Given the description of an element on the screen output the (x, y) to click on. 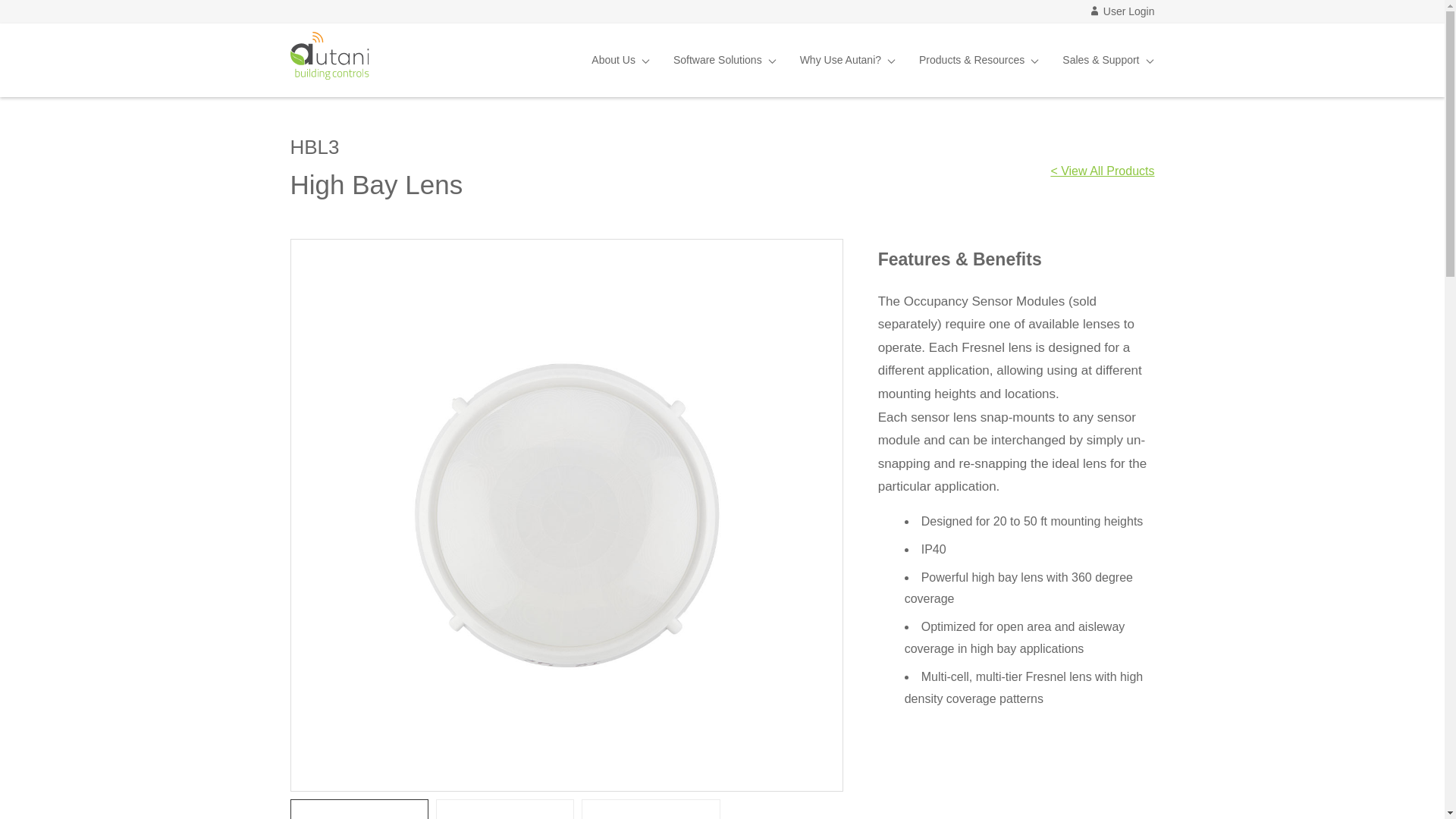
User Login (1122, 10)
